Given the description of an element on the screen output the (x, y) to click on. 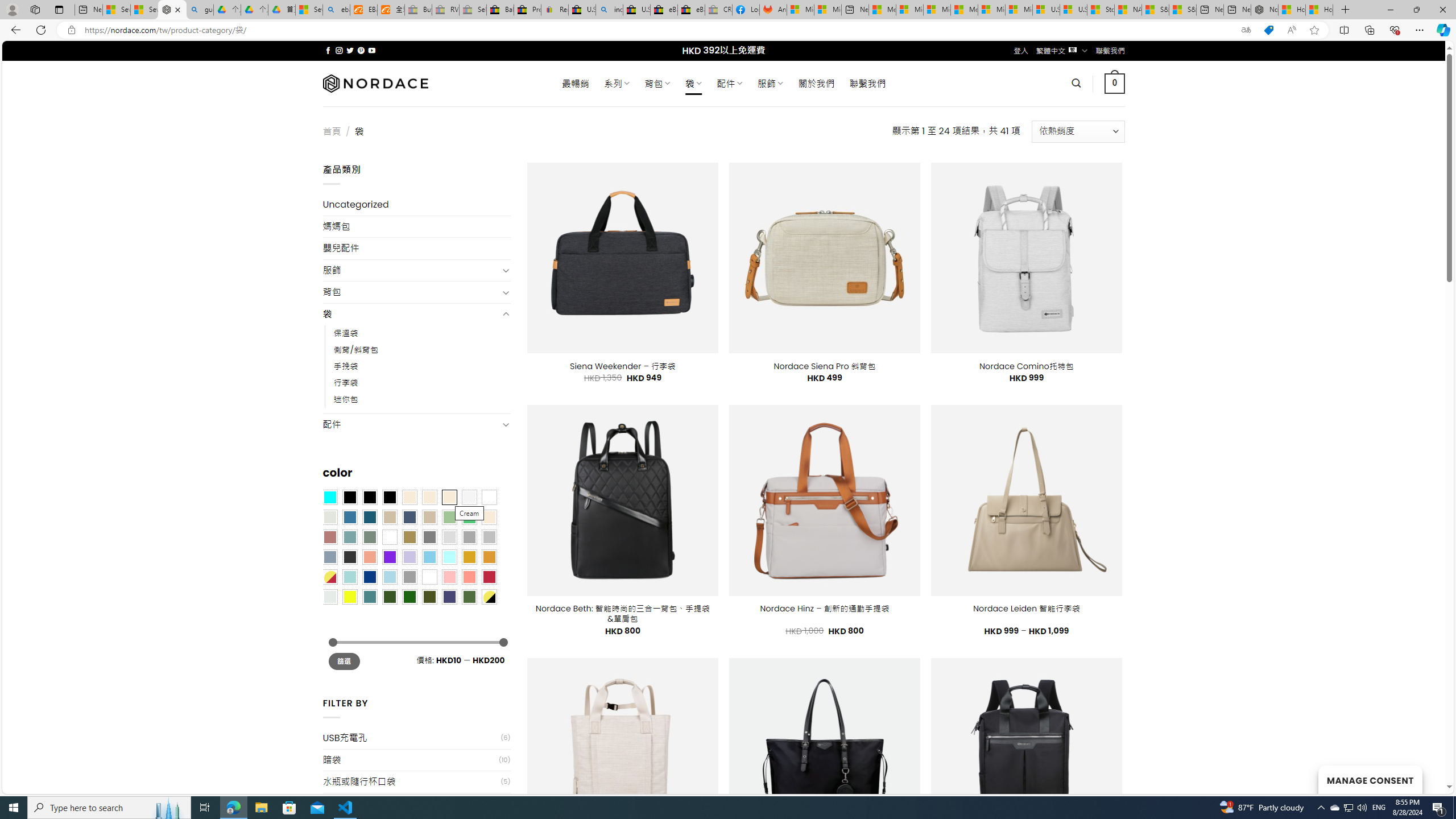
Cream (449, 497)
Sell worldwide with eBay - Sleeping (473, 9)
Microsoft account | Privacy (909, 9)
